Given the description of an element on the screen output the (x, y) to click on. 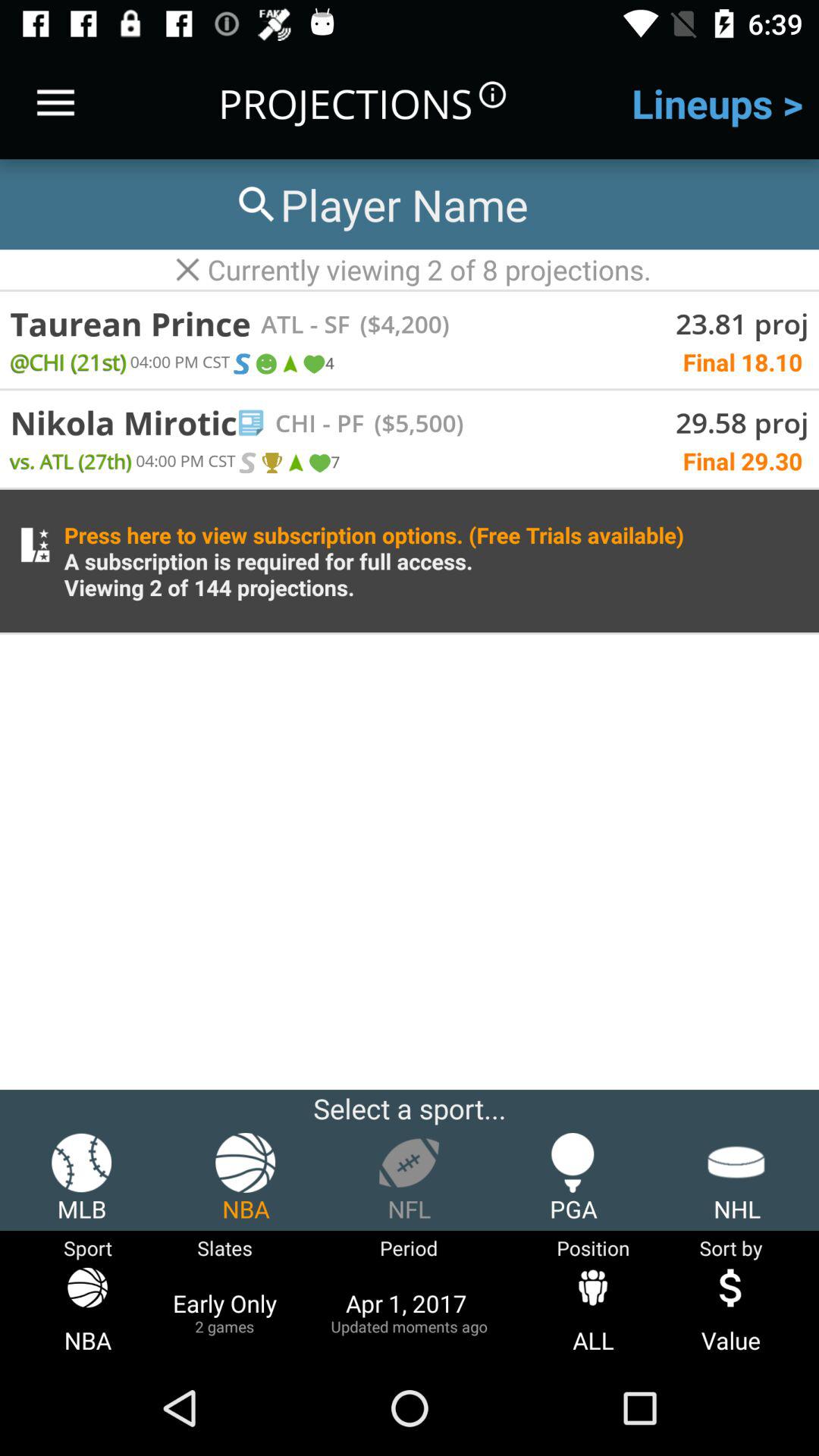
jump to the 23.81 proj item (741, 323)
